Given the description of an element on the screen output the (x, y) to click on. 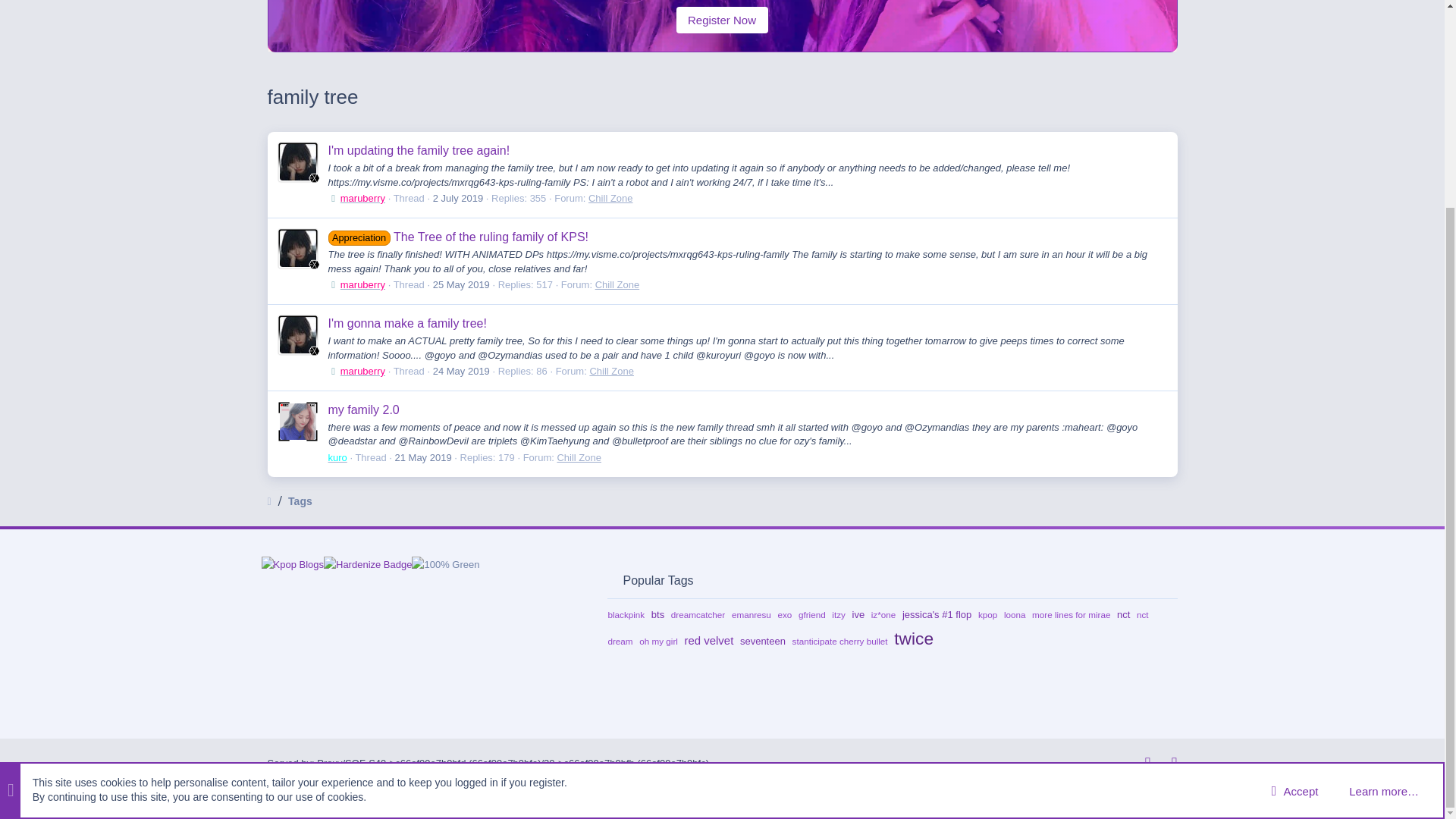
21 May 2019 at 4:26 PM (422, 457)
25 May 2019 at 11:51 AM (460, 284)
Twitter (1167, 763)
Instagram (1141, 763)
Register Now (722, 19)
24 May 2019 at 3:02 PM (460, 370)
2 July 2019 at 12:52 PM (457, 197)
